Given the description of an element on the screen output the (x, y) to click on. 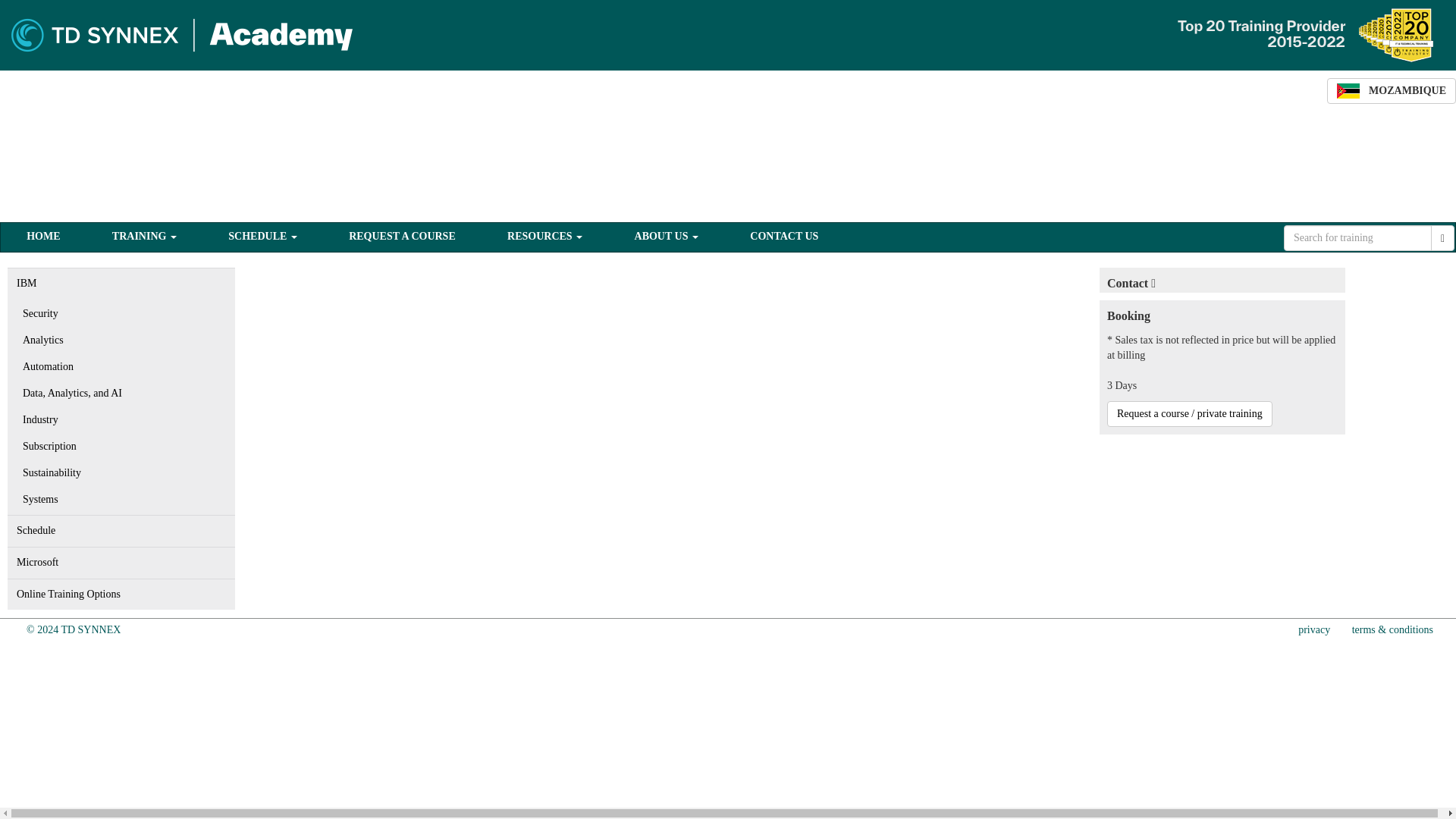
Data, Analytics, and AI (120, 393)
CONTACT US (783, 236)
MOZAMBIQUE (1391, 90)
RESOURCES (545, 236)
Security (120, 313)
ABOUT US (666, 236)
IBM (120, 283)
Sustainability (120, 472)
SCHEDULE (262, 236)
HOME (42, 236)
20190426 (73, 629)
Analytics (120, 340)
Automation (120, 366)
Industry (120, 419)
TRAINING (143, 236)
